Given the description of an element on the screen output the (x, y) to click on. 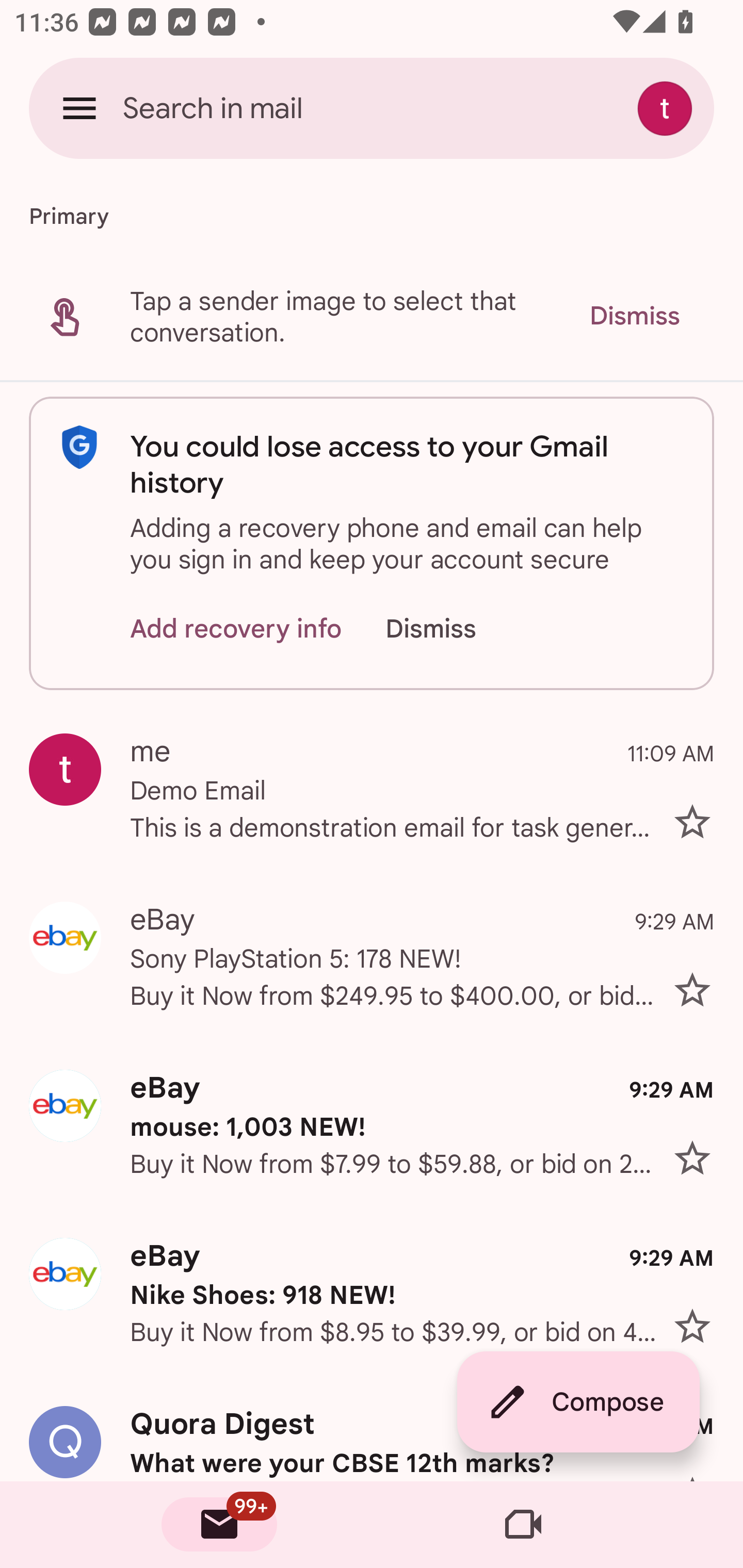
Open navigation drawer (79, 108)
Dismiss Dismiss tip (634, 315)
Add recovery info (235, 628)
Dismiss (449, 628)
Compose (577, 1401)
Meet (523, 1524)
